Given the description of an element on the screen output the (x, y) to click on. 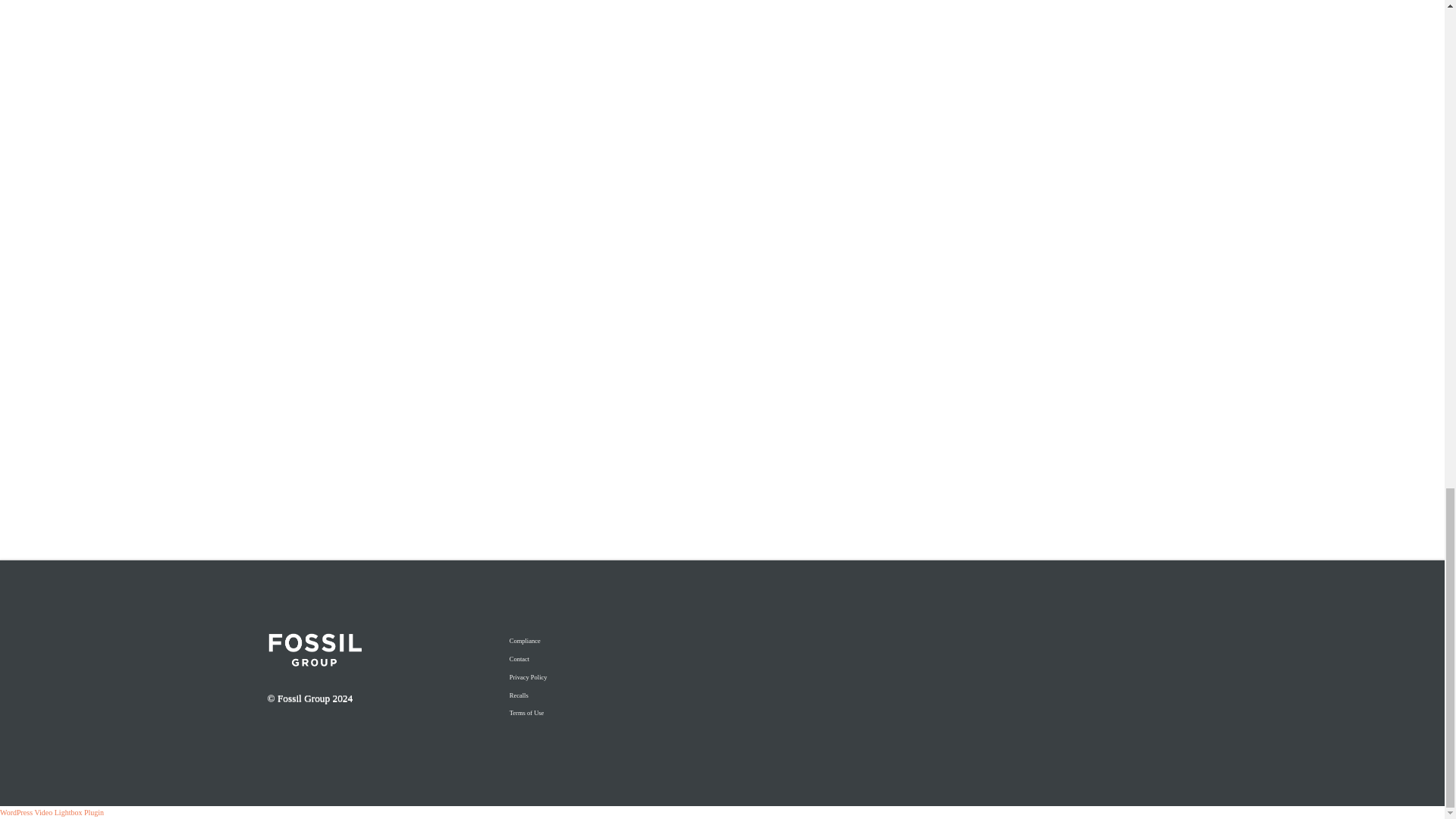
Recalls (603, 695)
Privacy Policy (603, 677)
Contact (603, 659)
WordPress Video Lightbox Plugin (51, 812)
Compliance (603, 641)
